Given the description of an element on the screen output the (x, y) to click on. 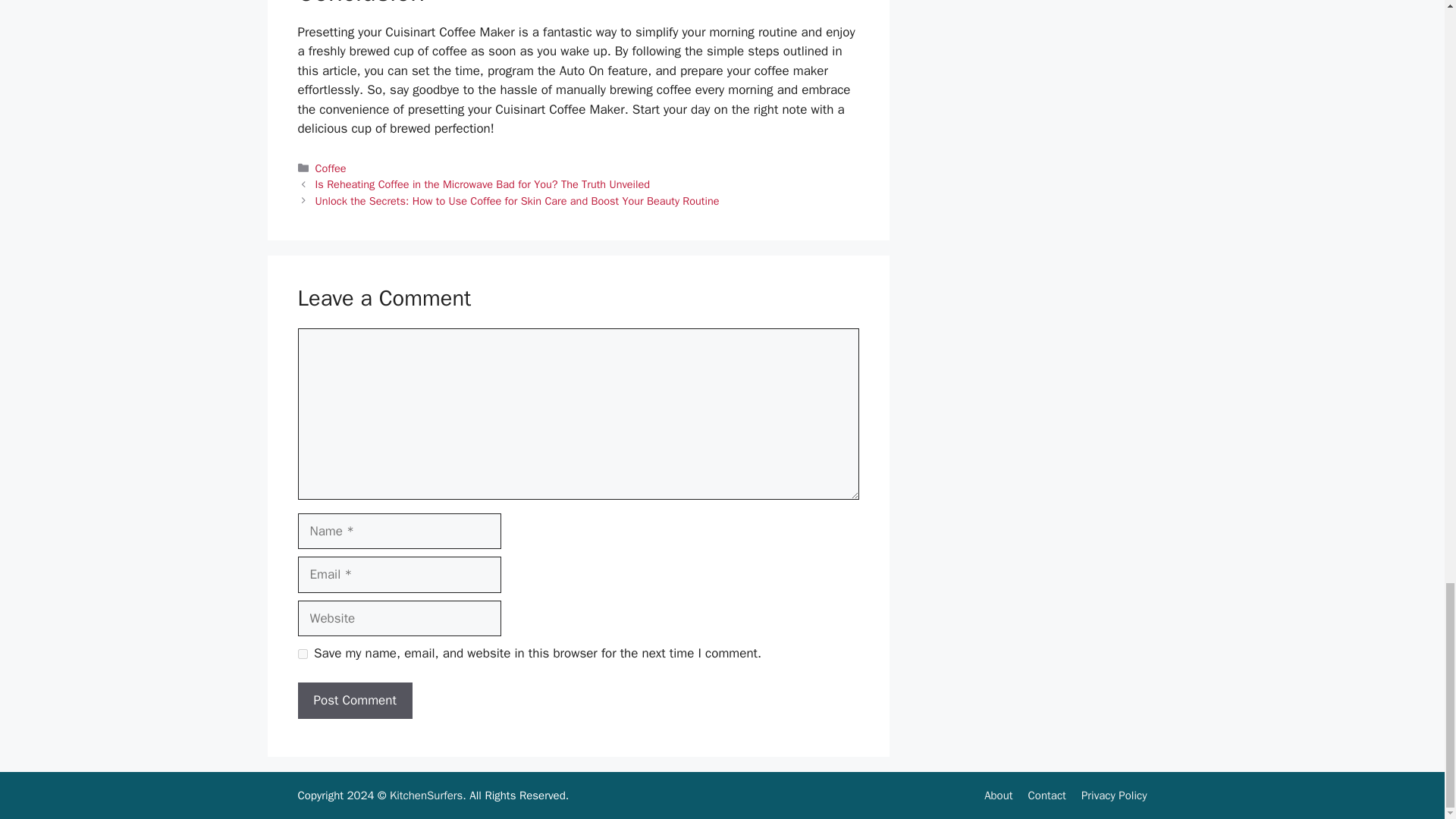
yes (302, 654)
About (997, 795)
Post Comment (354, 700)
KitchenSurfers (426, 795)
Privacy Policy (1114, 795)
Contact (1046, 795)
Coffee (330, 168)
Post Comment (354, 700)
